Given the description of an element on the screen output the (x, y) to click on. 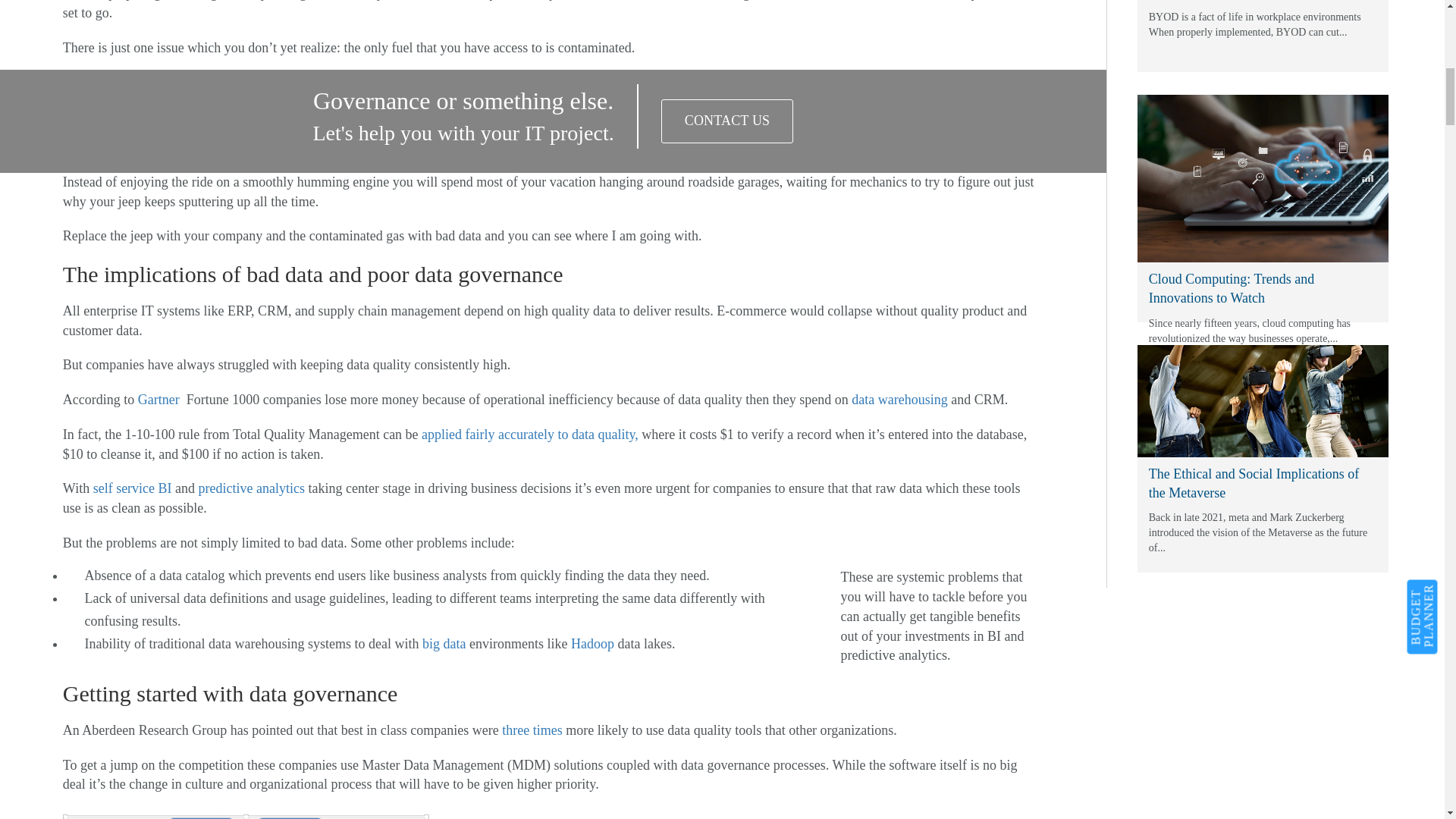
data warehousing (899, 399)
applied fairly accurately to data quality, (530, 434)
What (727, 121)
predictive analytics (251, 488)
The Ethical and Social Implications of the Metaverse (1263, 400)
Cloud Computing: Trends and Innovations to Watch (1263, 178)
Gartner (160, 399)
CONTACT US (727, 121)
self service BI (132, 488)
